Given the description of an element on the screen output the (x, y) to click on. 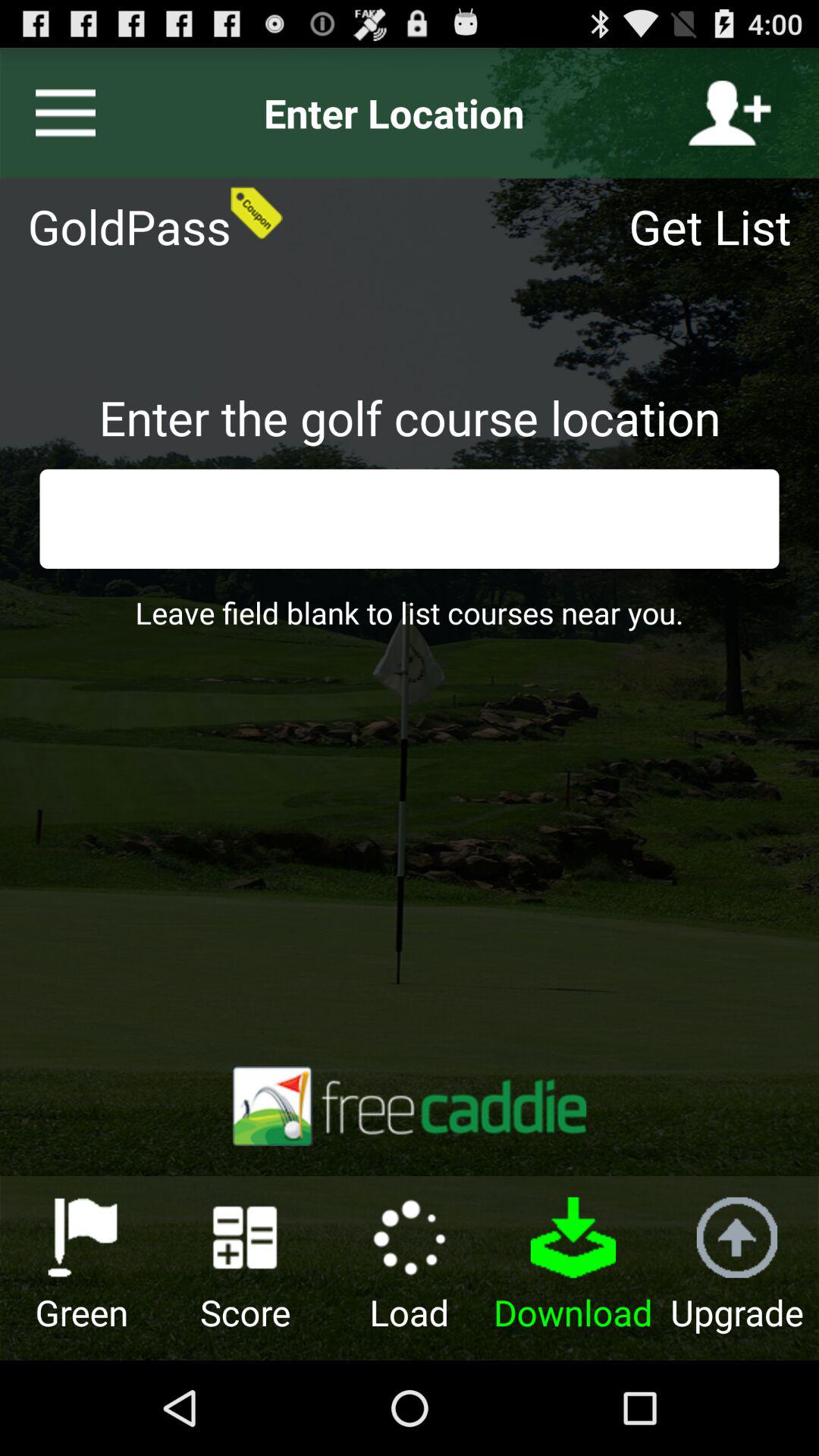
flip to the get list (720, 226)
